Given the description of an element on the screen output the (x, y) to click on. 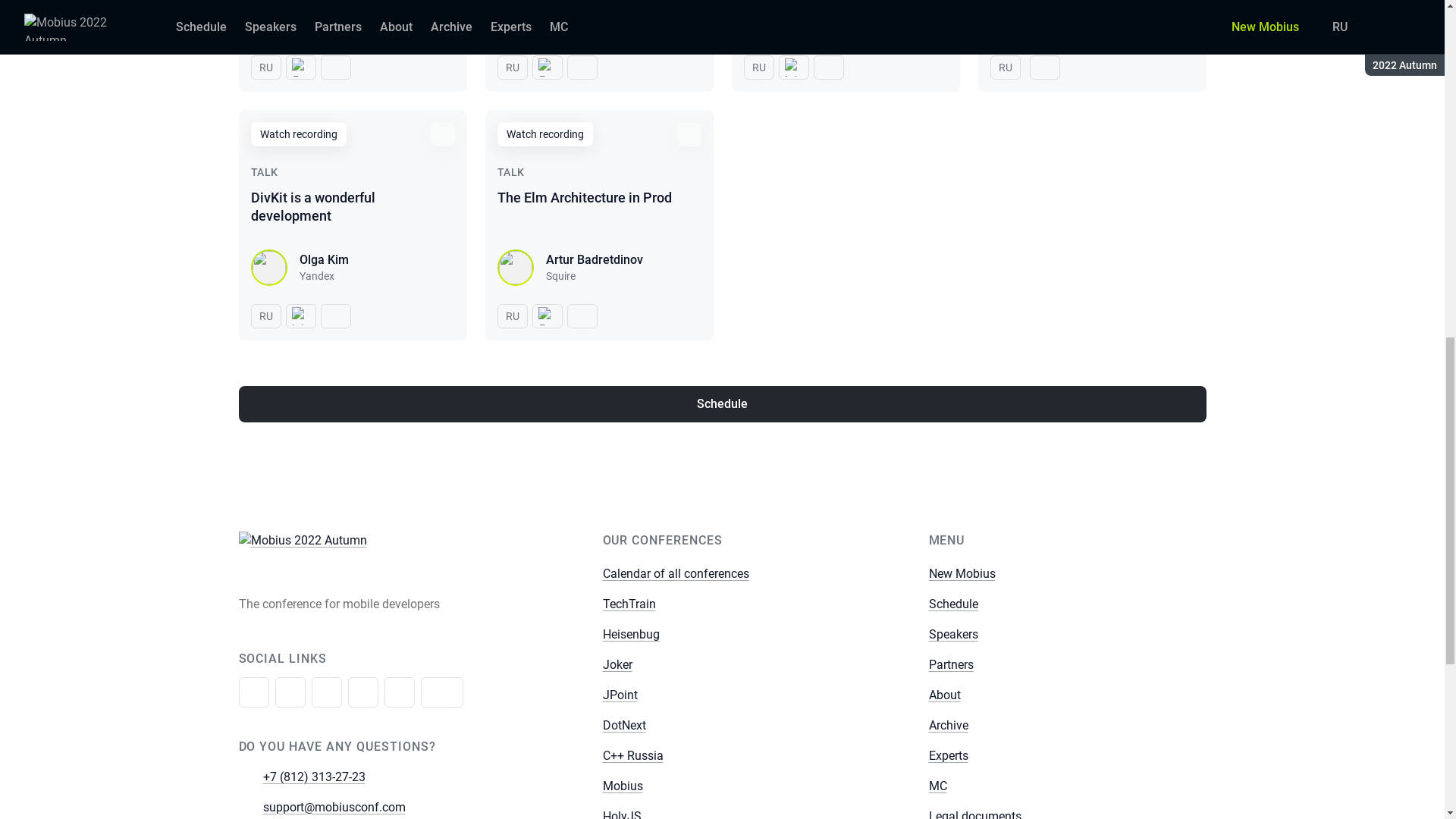
Yury Potapov (334, 11)
Alexander Makushev (603, 11)
Talk complexity - (547, 67)
Talk complexity - (300, 67)
